Given the description of an element on the screen output the (x, y) to click on. 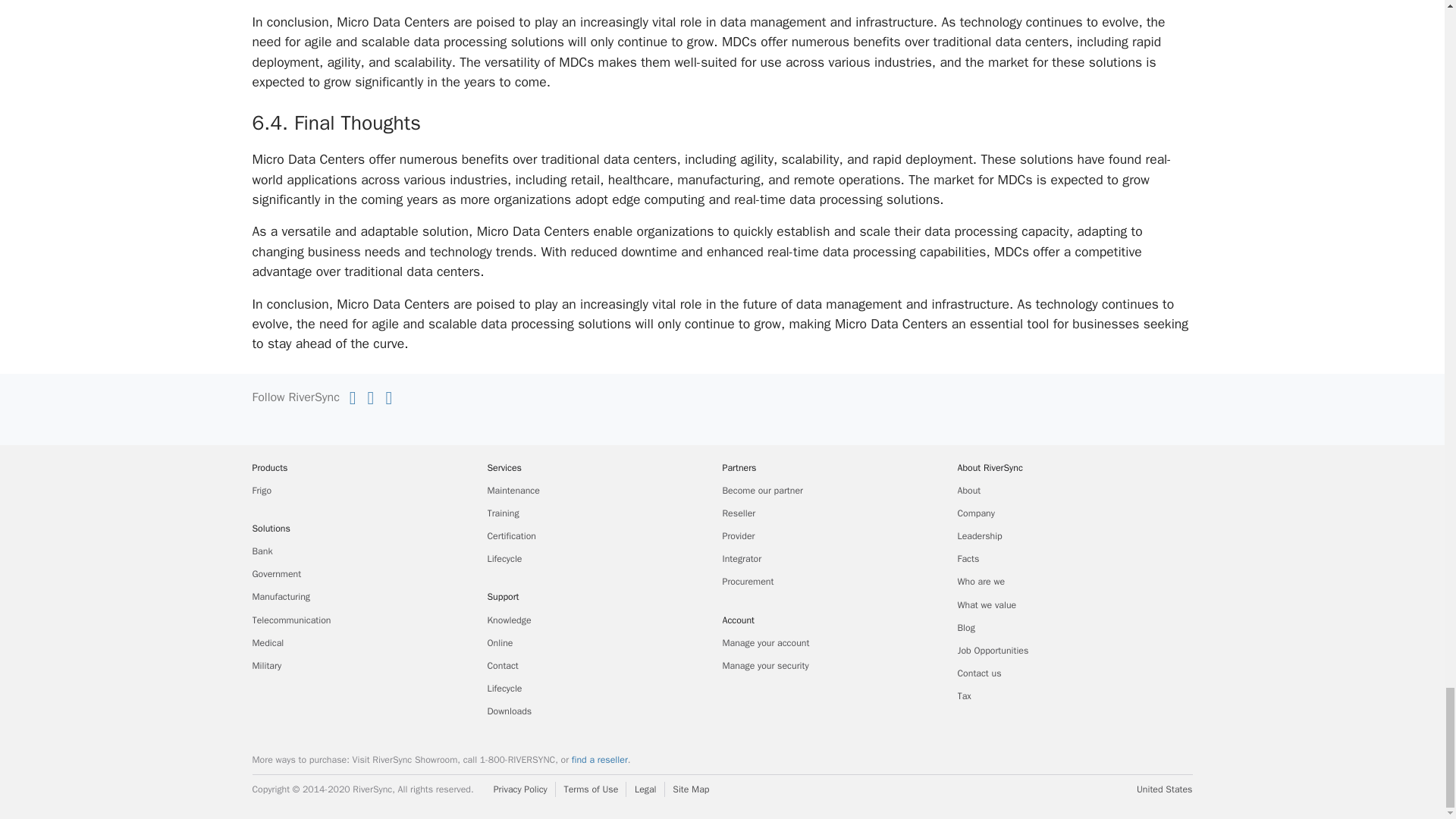
Bank (261, 551)
Telecommunication (290, 620)
Lifecycle (503, 558)
Procurement (747, 581)
Integrator (741, 558)
Government (276, 573)
Reseller (738, 512)
Contact (502, 665)
Manage your account (765, 643)
Become our partner (762, 490)
